Given the description of an element on the screen output the (x, y) to click on. 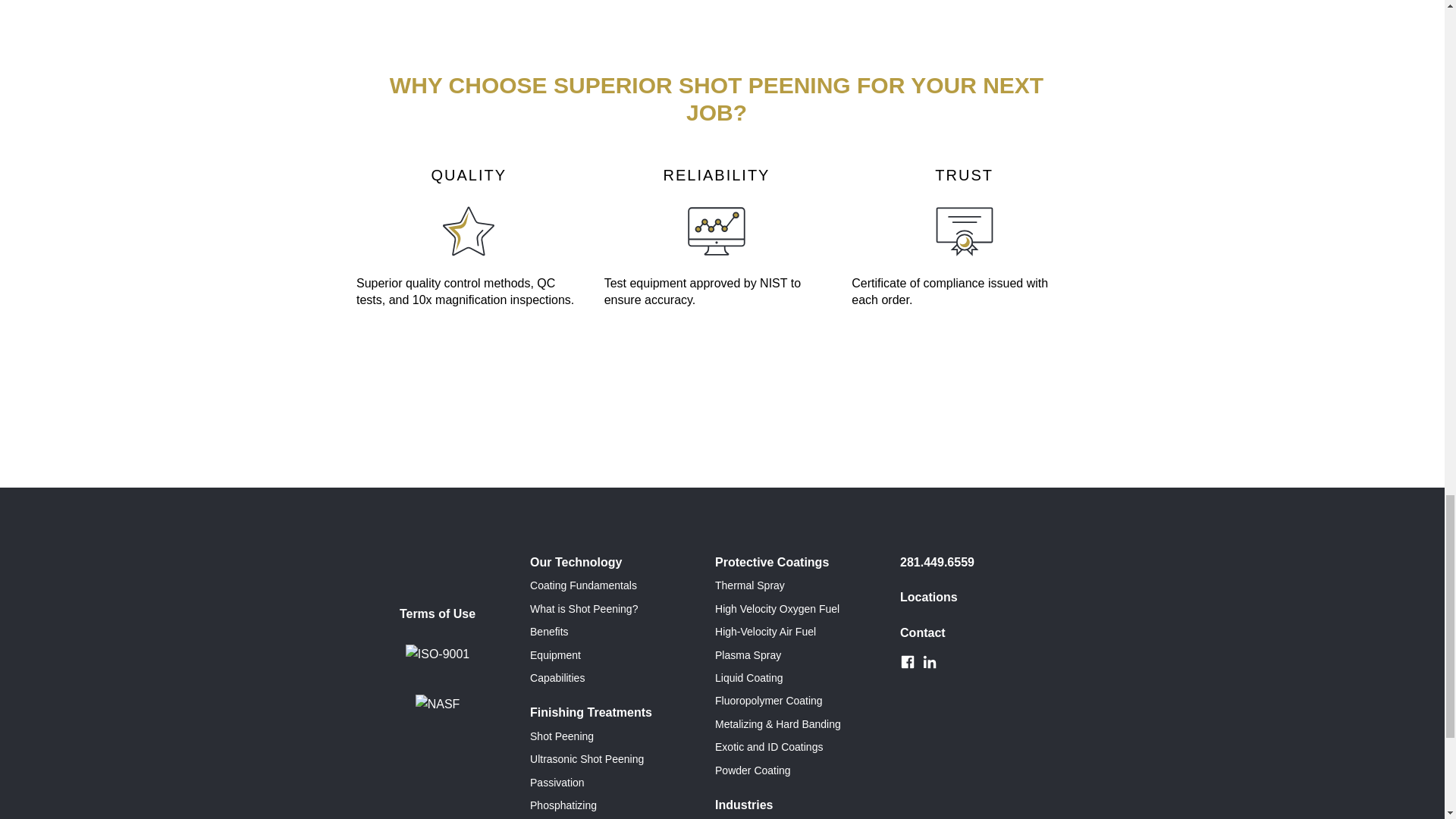
TRUST (964, 231)
Facebook (907, 661)
RELIABILITY (716, 231)
Linked In (929, 661)
QUALITY (468, 231)
